Given the description of an element on the screen output the (x, y) to click on. 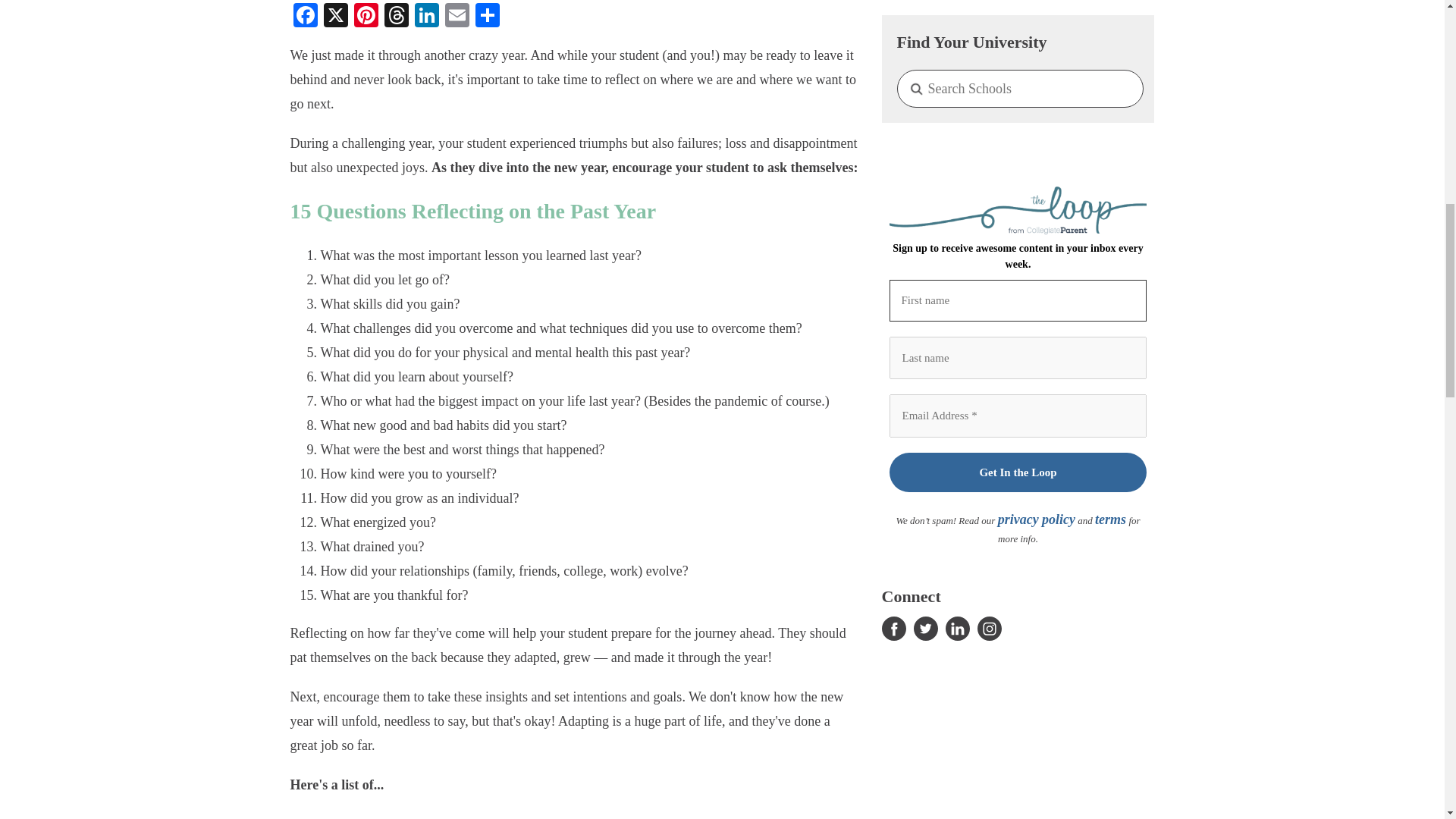
Search Schools (1019, 6)
Pinterest (365, 17)
First name (1017, 205)
Threads (395, 17)
LinkedIn (425, 17)
X (335, 17)
Email Address (1017, 321)
Email (456, 17)
Get In the Loop (1017, 377)
Facebook (304, 17)
